Given the description of an element on the screen output the (x, y) to click on. 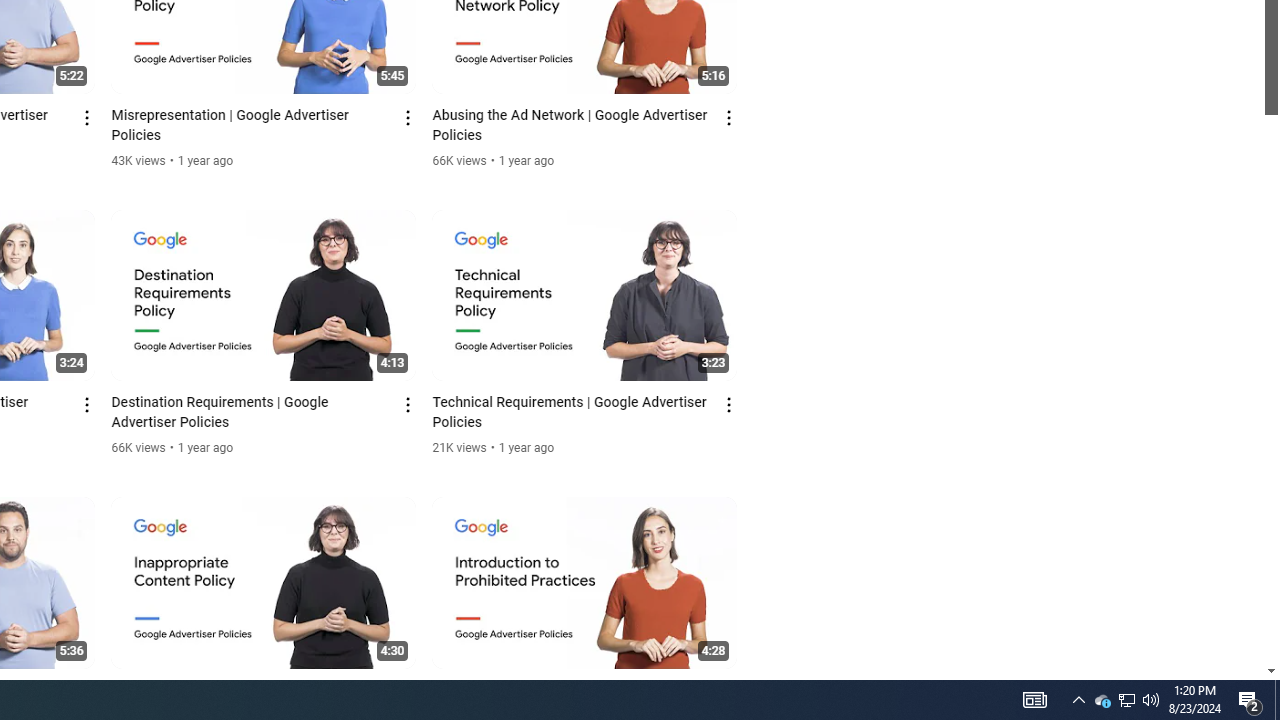
Action menu (729, 691)
